Given the description of an element on the screen output the (x, y) to click on. 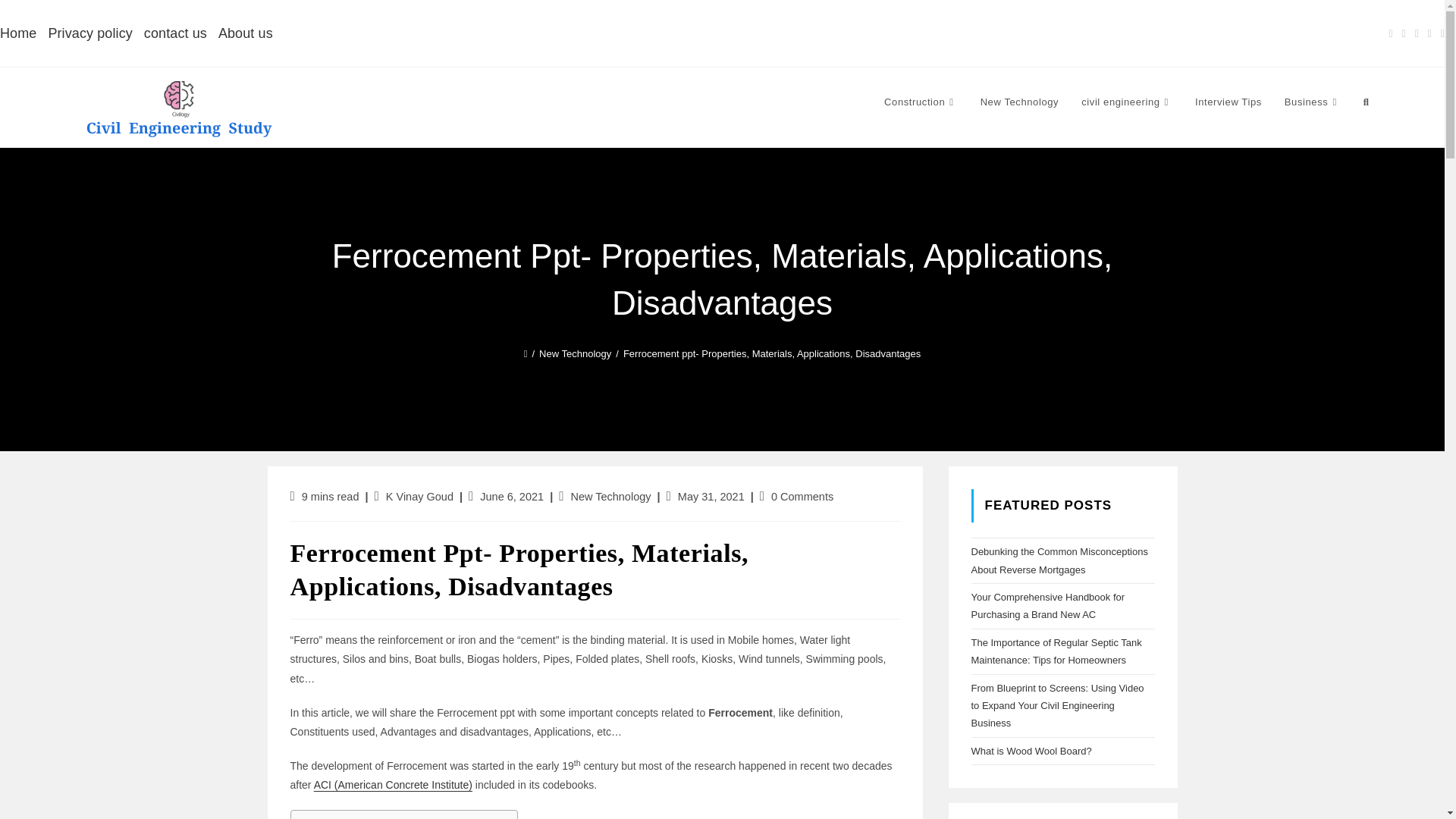
Privacy policy (90, 32)
New Technology (1019, 102)
About us (245, 32)
Interview Tips (1227, 102)
civil engineering (1126, 102)
New Technology (610, 496)
New Technology (574, 353)
Business (1312, 102)
K Vinay Goud (418, 496)
0 Comments (801, 496)
Posts by K Vinay Goud (418, 496)
Construction (920, 102)
contact us (175, 32)
